Given the description of an element on the screen output the (x, y) to click on. 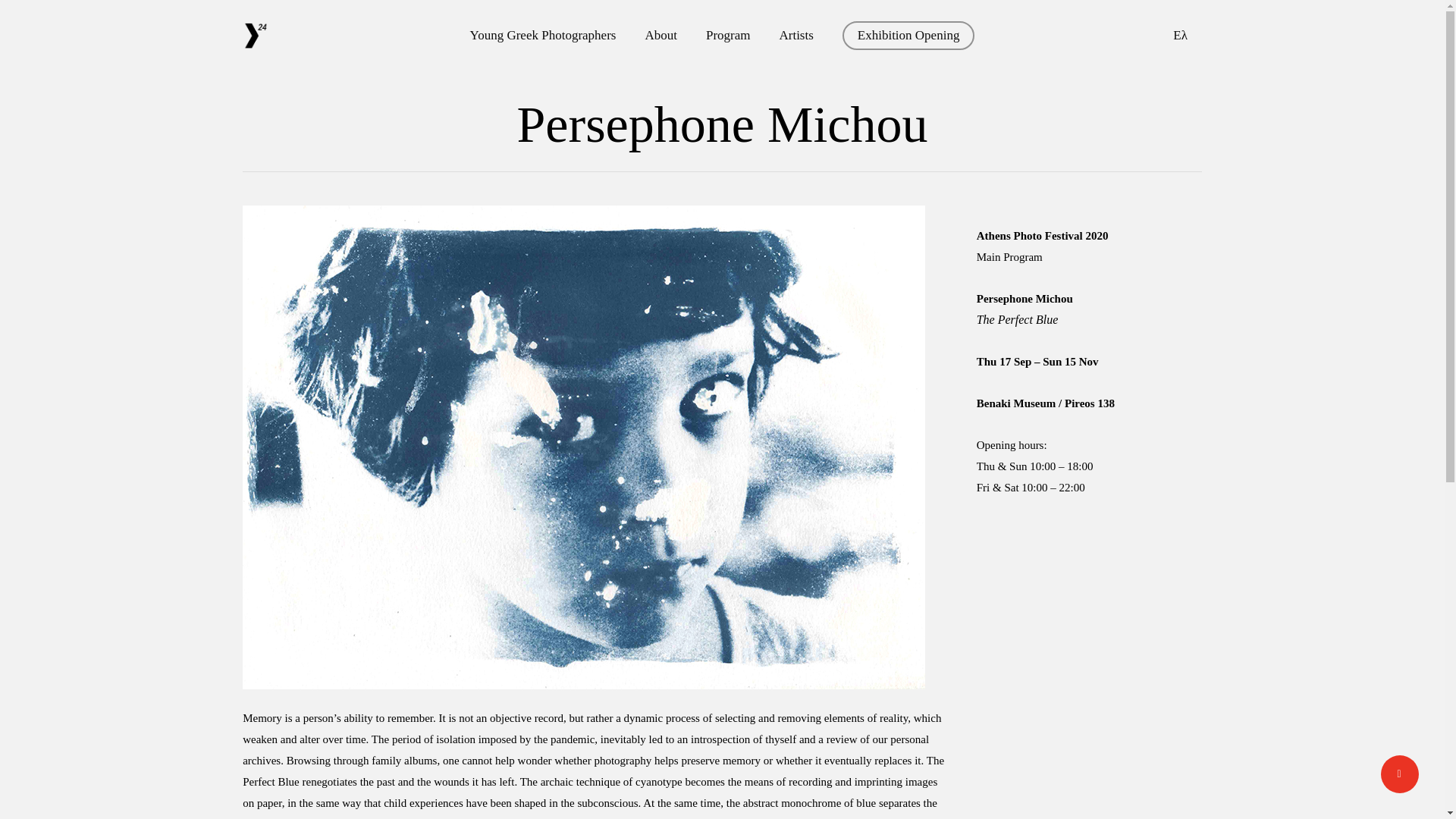
About (660, 35)
Exhibition Opening (909, 35)
Program (728, 35)
Artists (795, 35)
Young Greek Photographers (542, 35)
